Given the description of an element on the screen output the (x, y) to click on. 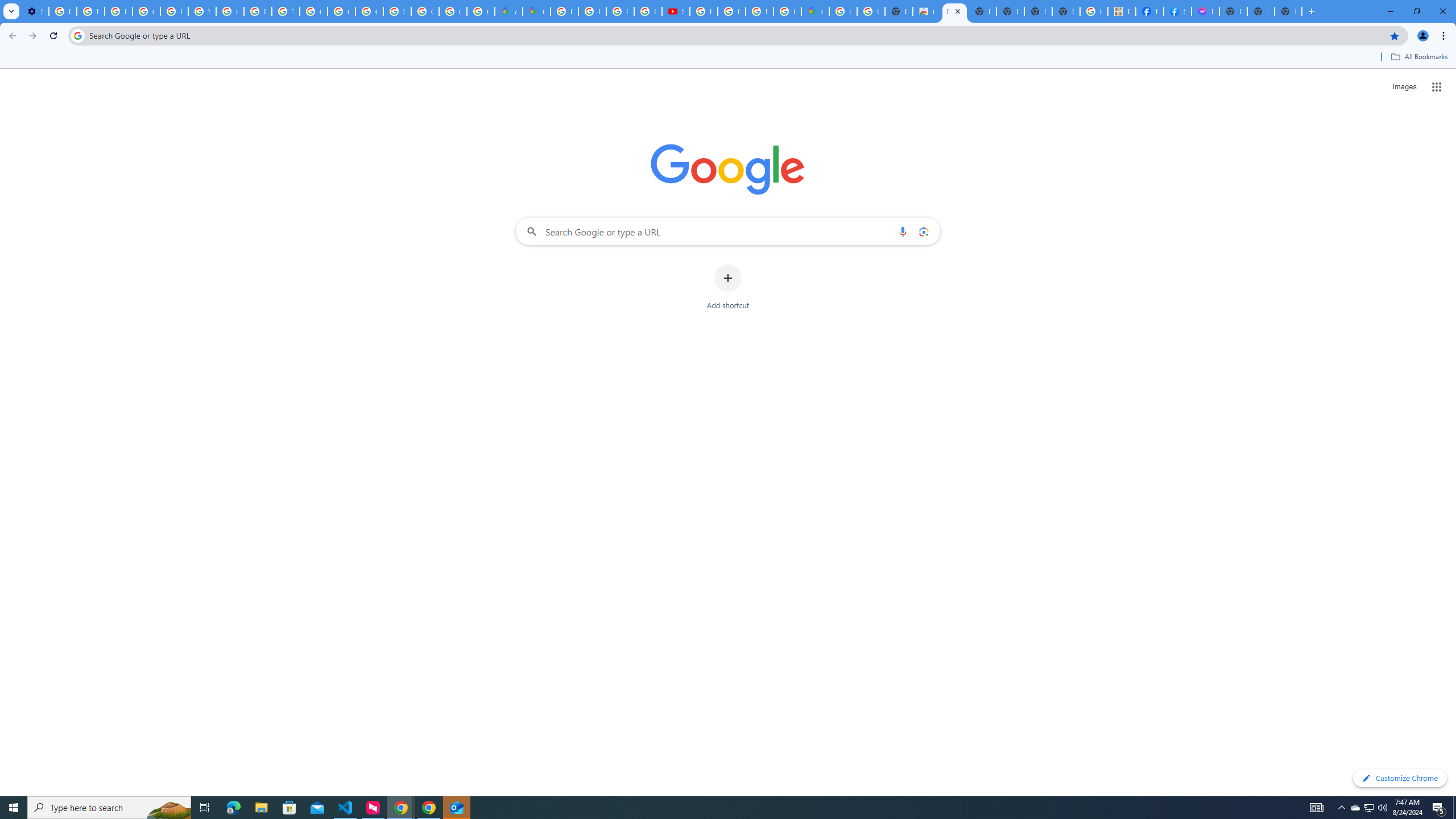
Bookmarks (728, 58)
Google Maps (815, 11)
Sign Up for Facebook (1177, 11)
New Tab (1288, 11)
Sign in - Google Accounts (397, 11)
Blogger Policies and Guidelines - Transparency Center (564, 11)
